Given the description of an element on the screen output the (x, y) to click on. 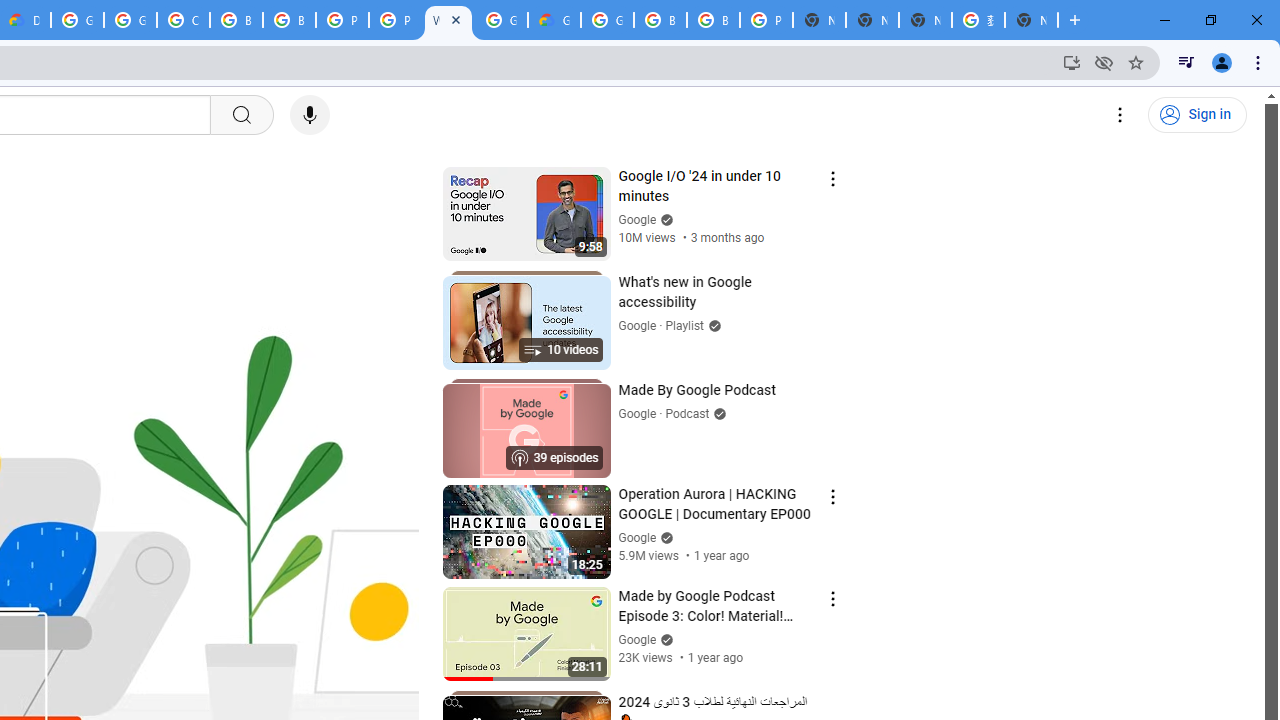
Browse Chrome as a guest - Computer - Google Chrome Help (235, 20)
Browse Chrome as a guest - Computer - Google Chrome Help (289, 20)
Google Cloud Estimate Summary (554, 20)
Browse Chrome as a guest - Computer - Google Chrome Help (713, 20)
Google Cloud Platform (501, 20)
New Tab (1031, 20)
Action menu (832, 598)
